Given the description of an element on the screen output the (x, y) to click on. 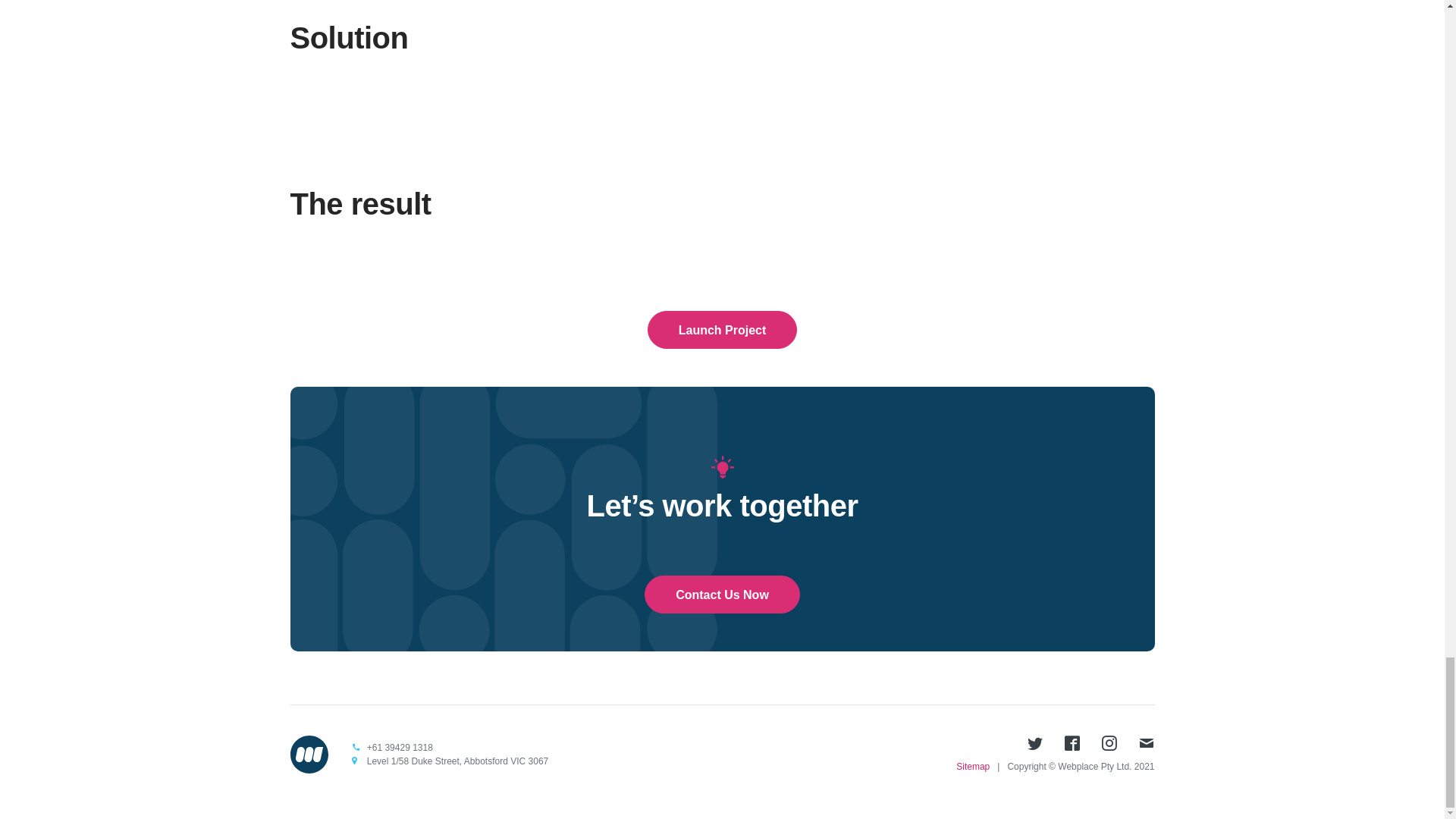
Launch Project (722, 329)
facebook (1072, 744)
twitter (1034, 744)
mail (1146, 744)
Contact Us Now (722, 594)
Sitemap (973, 766)
instagram (1109, 744)
